Given the description of an element on the screen output the (x, y) to click on. 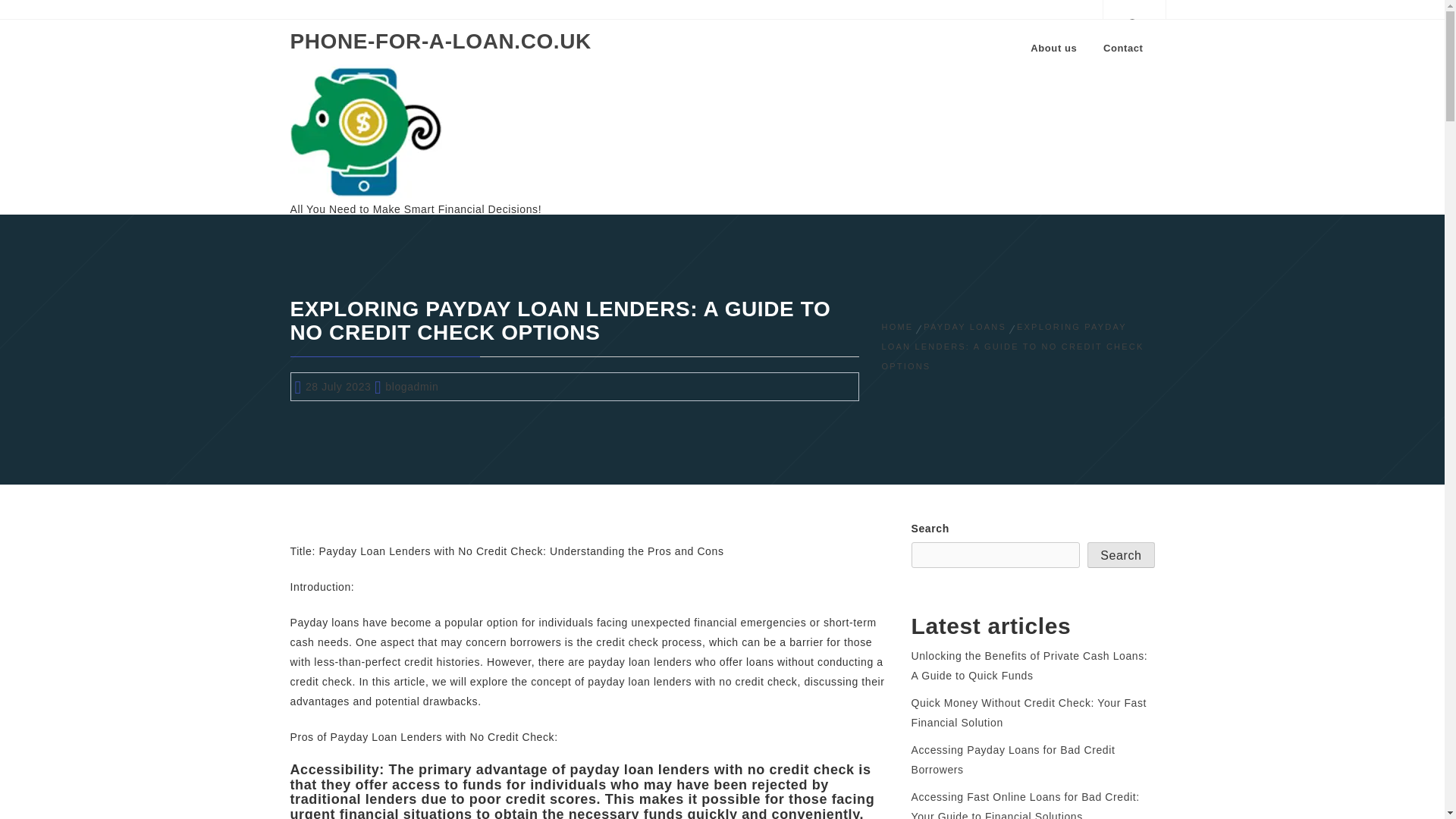
PHONE-FOR-A-LOAN.CO.UK (440, 41)
blogadmin (411, 386)
HOME (899, 326)
PAYDAY LOANS (964, 326)
28 July 2023 (338, 386)
About us (1053, 47)
Contact (1123, 47)
